Given the description of an element on the screen output the (x, y) to click on. 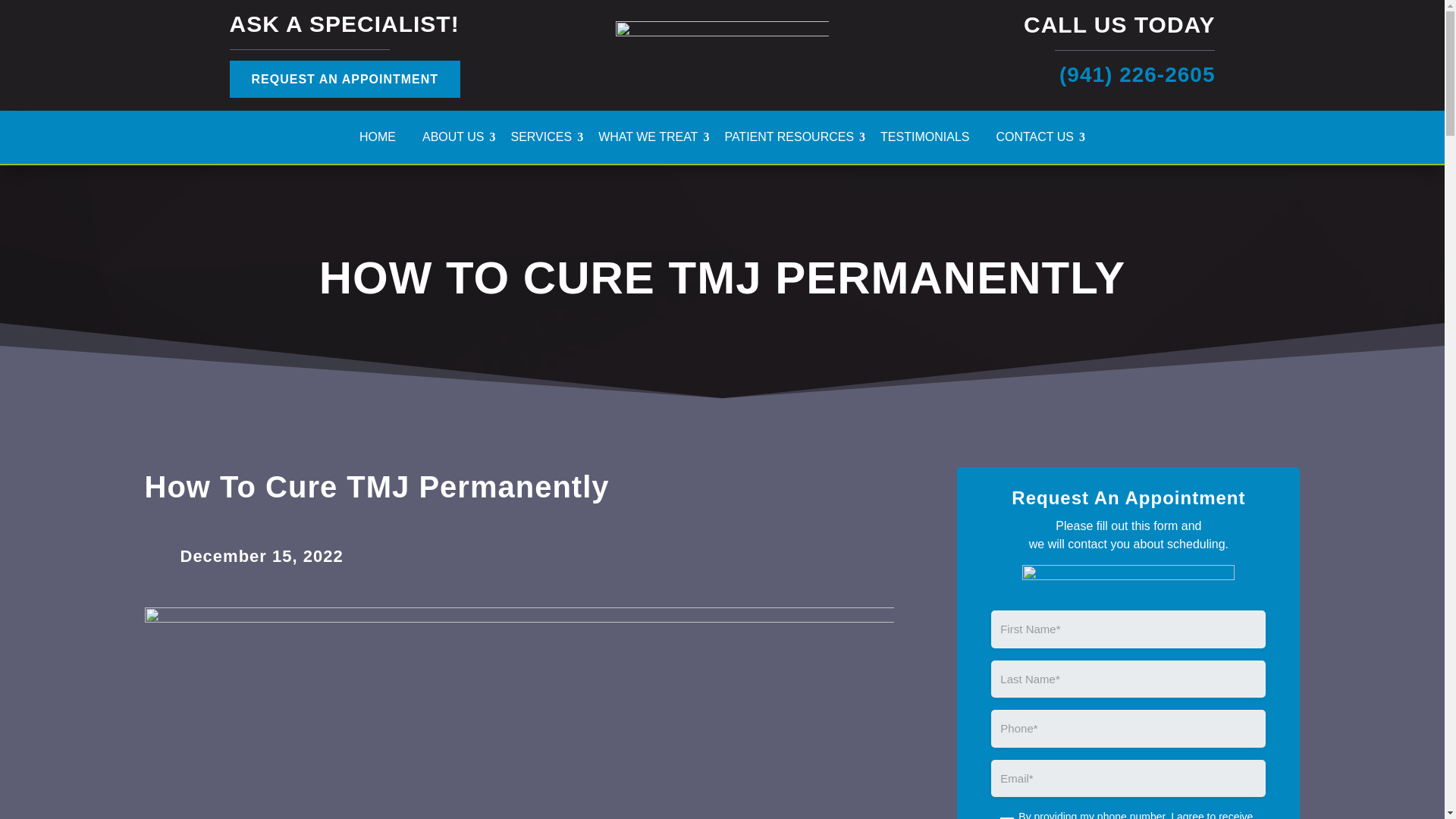
15388 Rehab CEOs Logo -01 (721, 53)
PATIENT RESOURCES (793, 139)
ABOUT US (459, 139)
WHAT WE TREAT (653, 139)
HOME (383, 139)
SERVICES (547, 139)
REQUEST AN APPOINTMENT (344, 78)
TESTIMONIALS (929, 139)
CONTACT US (1039, 139)
